Given the description of an element on the screen output the (x, y) to click on. 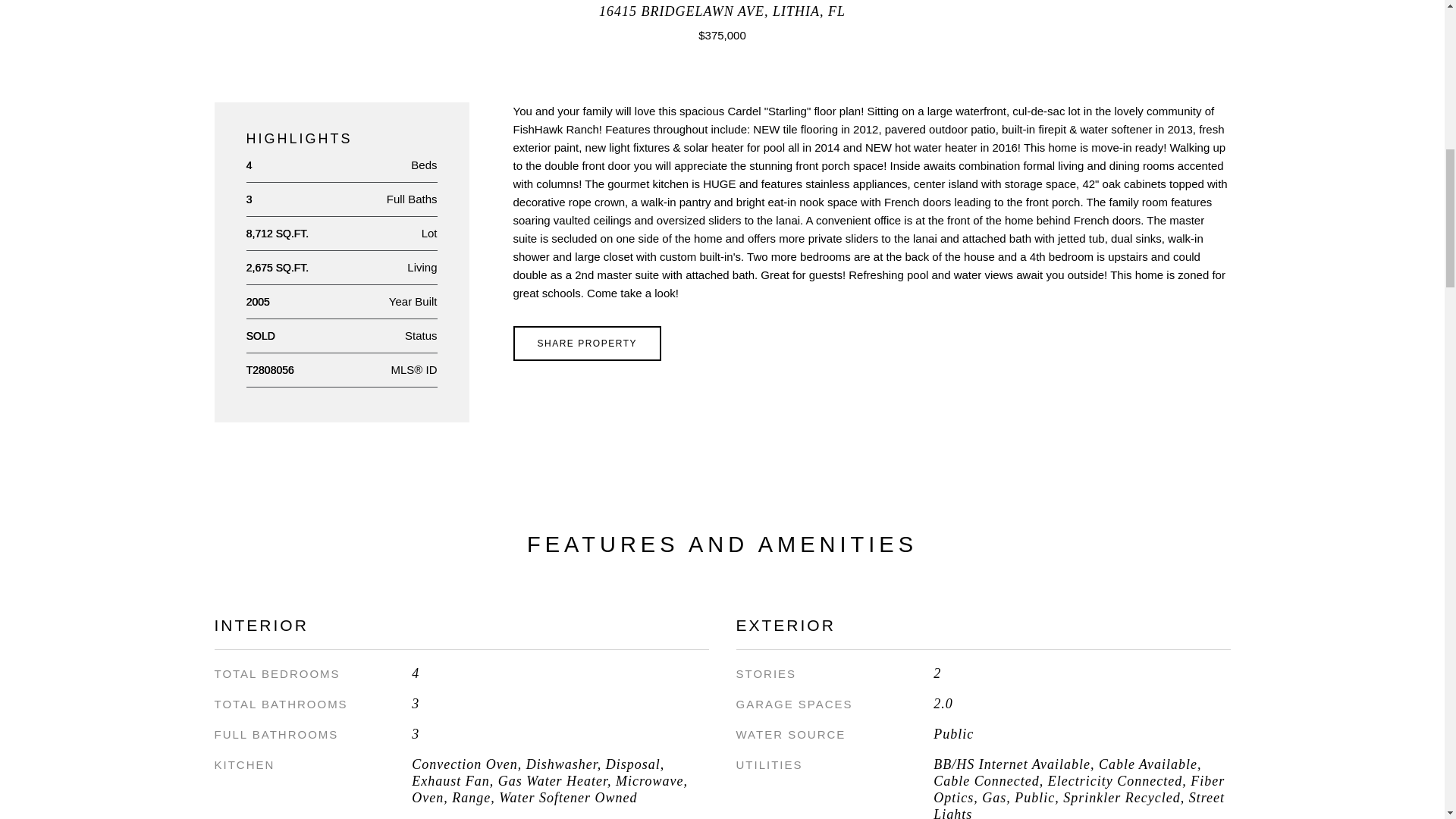
SHARE PROPERTY (586, 343)
